Given the description of an element on the screen output the (x, y) to click on. 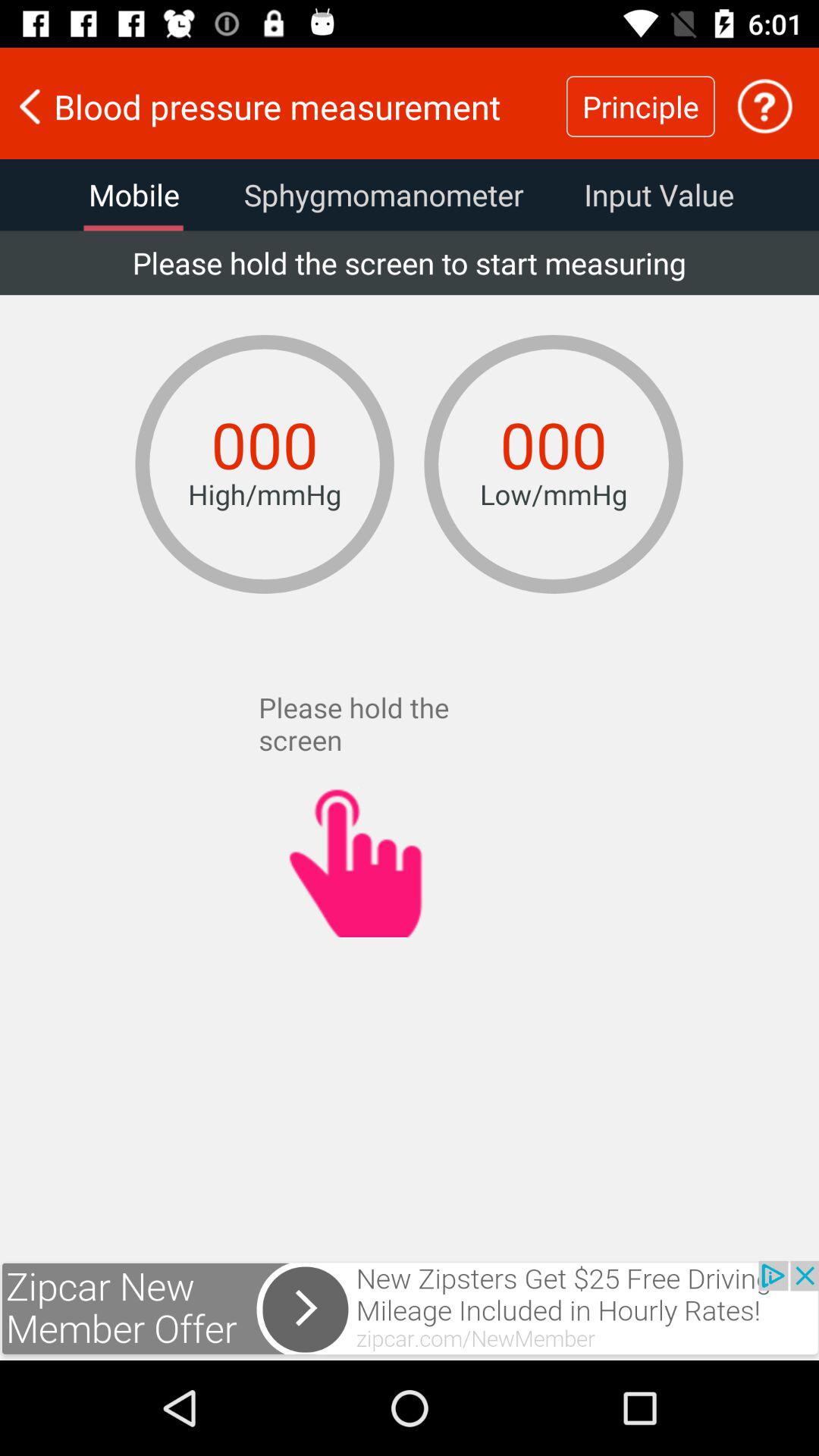
help icon (764, 106)
